Given the description of an element on the screen output the (x, y) to click on. 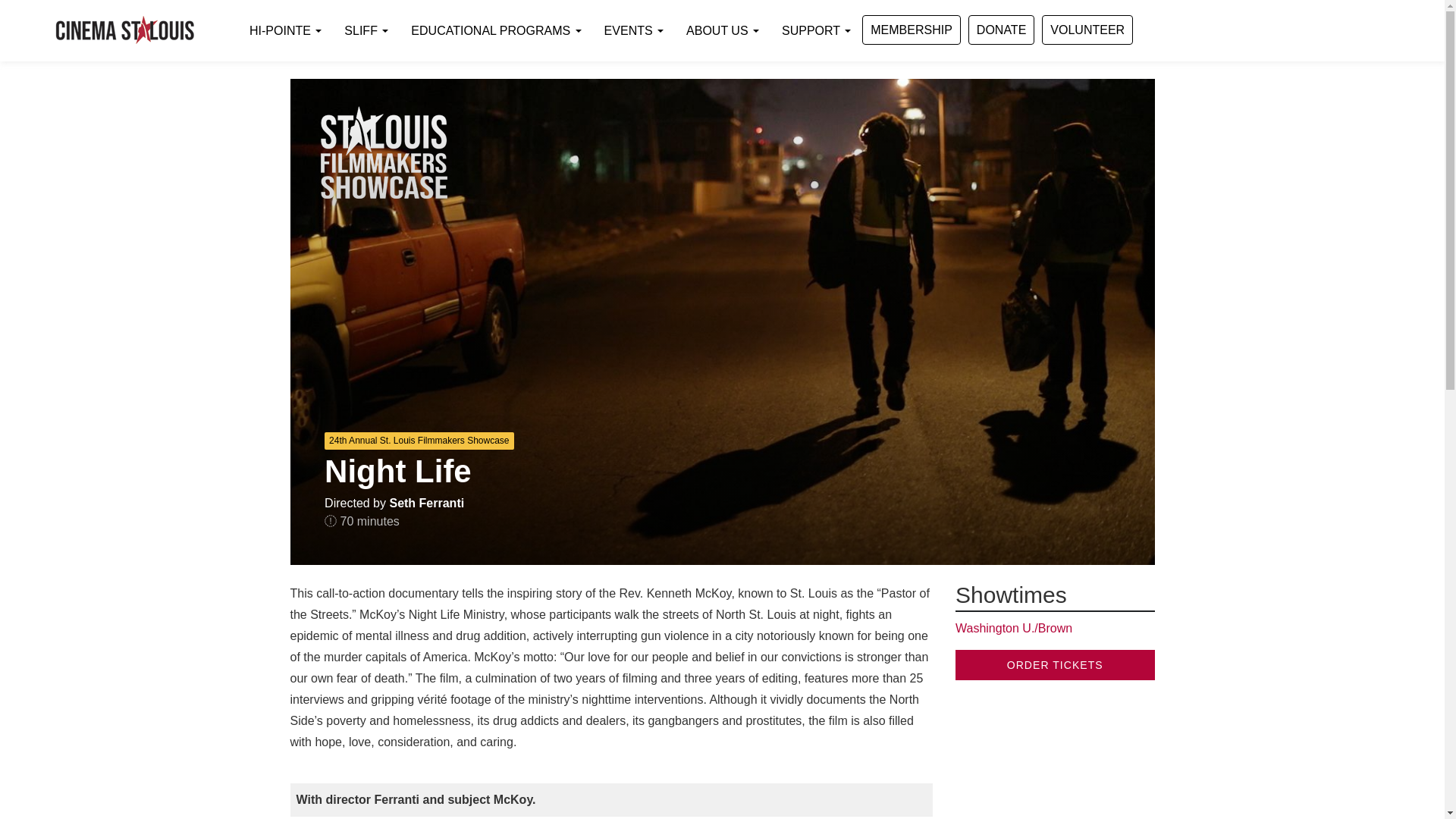
SLIFF (365, 30)
Home (125, 30)
EDUCATIONAL PROGRAMS (495, 30)
SUPPORT (815, 30)
EVENTS (633, 30)
ABOUT US (722, 30)
MEMBERSHIP (910, 30)
HI-POINTE (285, 30)
